Given the description of an element on the screen output the (x, y) to click on. 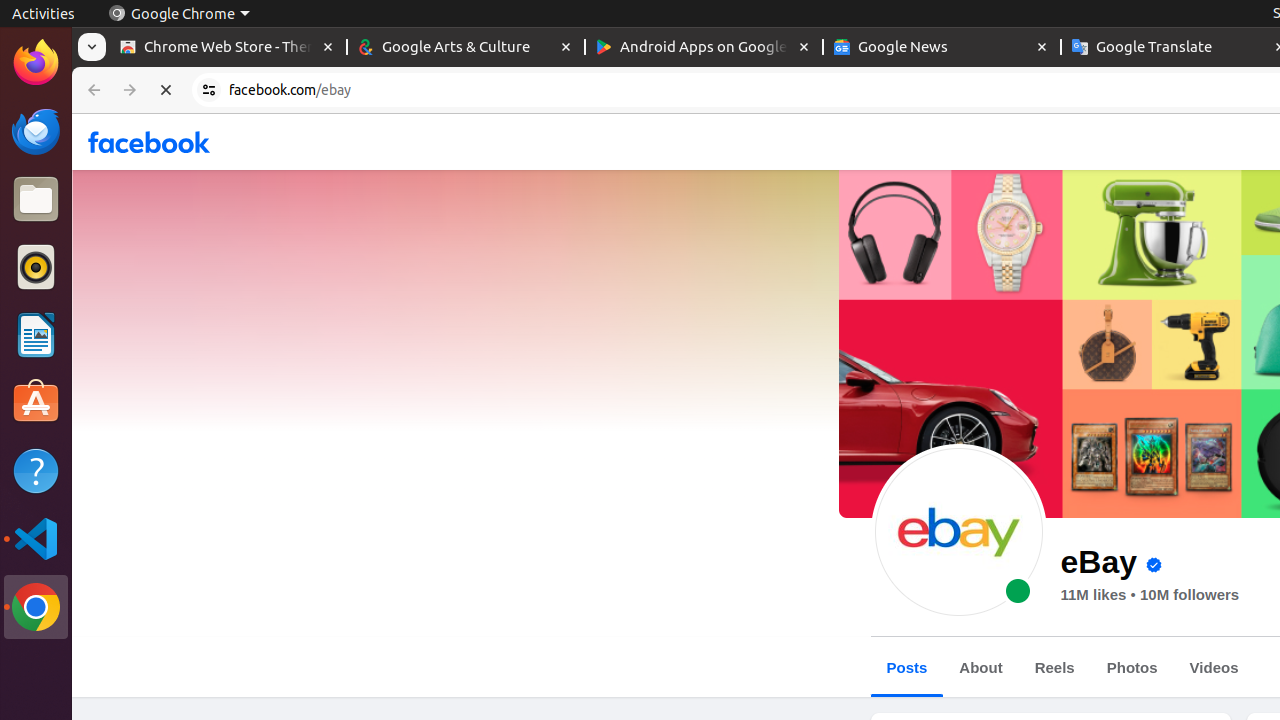
Google Arts & Culture - Memory usage - 40.8 MB Element type: page-tab (466, 47)
11M likes Element type: link (1093, 595)
Facebook Element type: link (150, 142)
About Element type: page-tab (981, 667)
Videos Element type: page-tab (1214, 667)
